Given the description of an element on the screen output the (x, y) to click on. 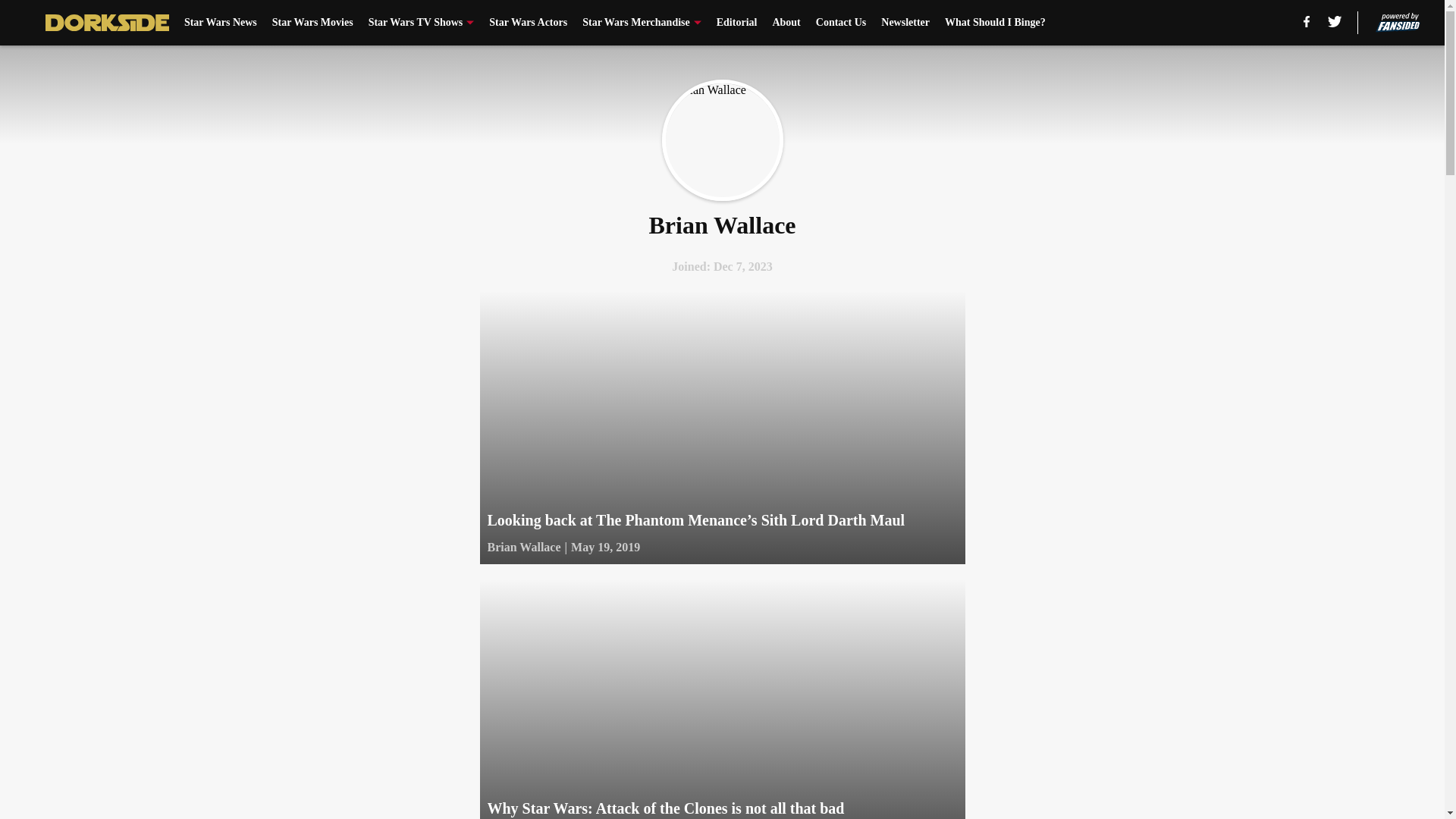
Why Star Wars: Attack of the Clones is not all that bad (721, 699)
Newsletter (905, 22)
Editorial (736, 22)
Contact Us (840, 22)
Star Wars Actors (528, 22)
Star Wars Movies (312, 22)
Brian Wallace (721, 140)
What Should I Binge? (994, 22)
Star Wars Merchandise (641, 22)
About (785, 22)
